Given the description of an element on the screen output the (x, y) to click on. 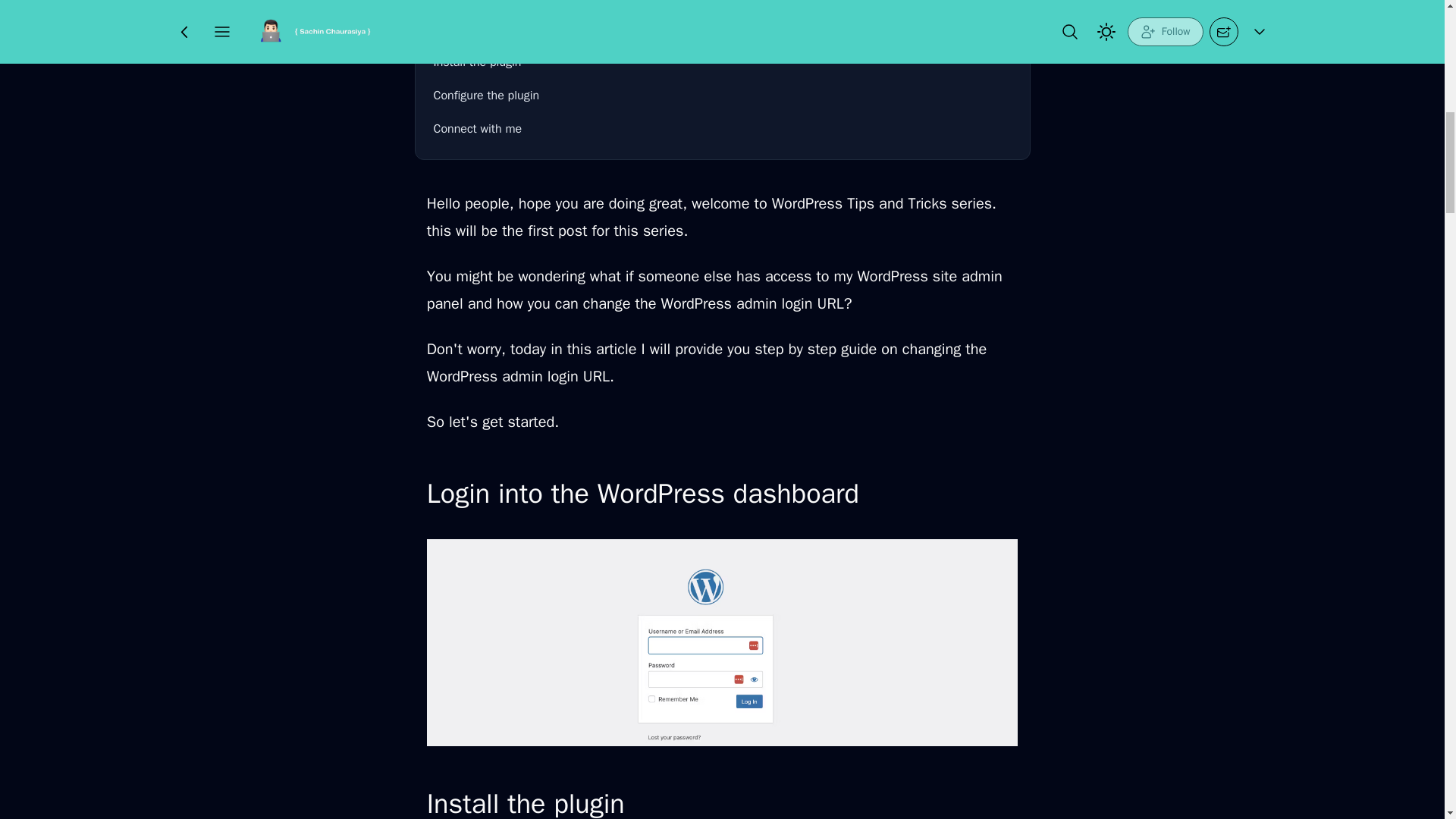
Login into the WordPress dashboard (722, 28)
Install the plugin (722, 61)
Add Bookmark (744, 24)
Connect with me (722, 128)
Configure the plugin (722, 95)
